Given the description of an element on the screen output the (x, y) to click on. 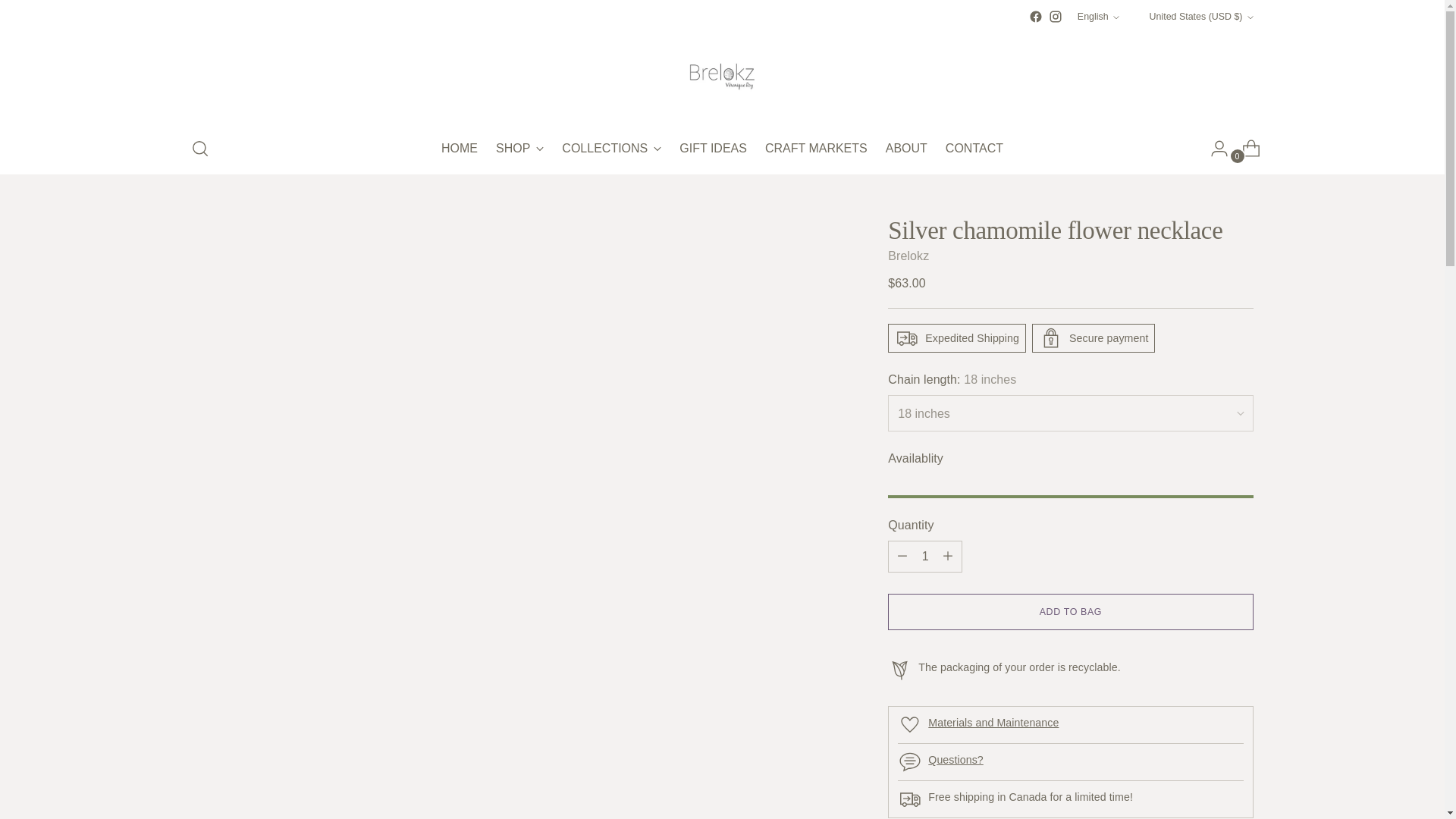
HOME (459, 148)
Brelokz (908, 255)
SHOP (519, 148)
Brelokz  on Instagram (1055, 16)
Contact (955, 759)
Brelokz  on Facebook (722, 148)
1 (1035, 16)
English (925, 556)
Materials and Maintenance (1098, 16)
